Given the description of an element on the screen output the (x, y) to click on. 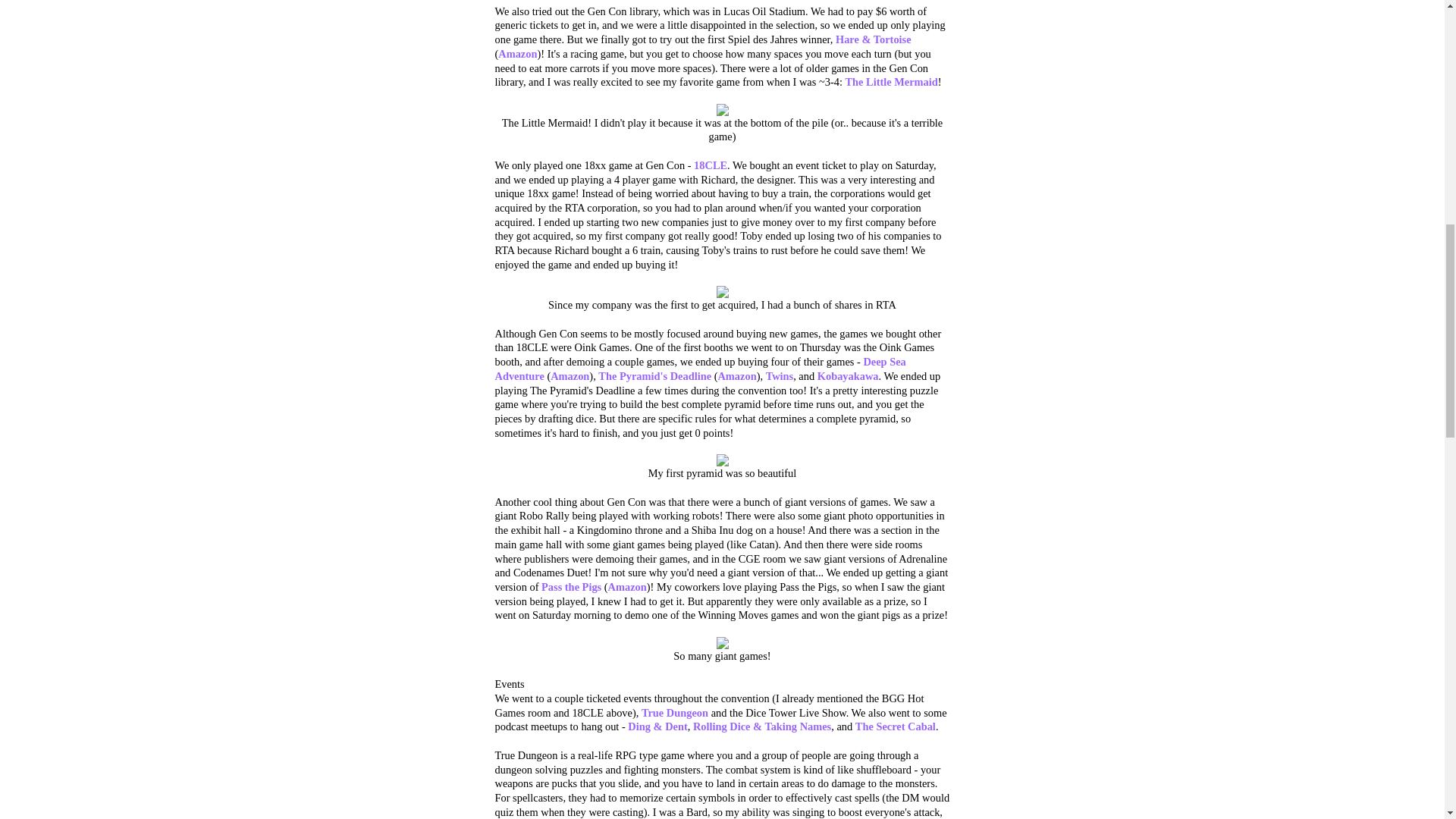
Amazon (569, 376)
The Secret Cabal (896, 726)
The Little Mermaid (890, 81)
Twins (779, 376)
18CLE (710, 164)
Pass the Pigs (571, 586)
Amazon (627, 586)
Kobayakawa (847, 376)
True Dungeon (674, 712)
Deep Sea Adventure (700, 368)
The Pyramid's Deadline (654, 376)
Amazon (517, 53)
Amazon (736, 376)
